Given the description of an element on the screen output the (x, y) to click on. 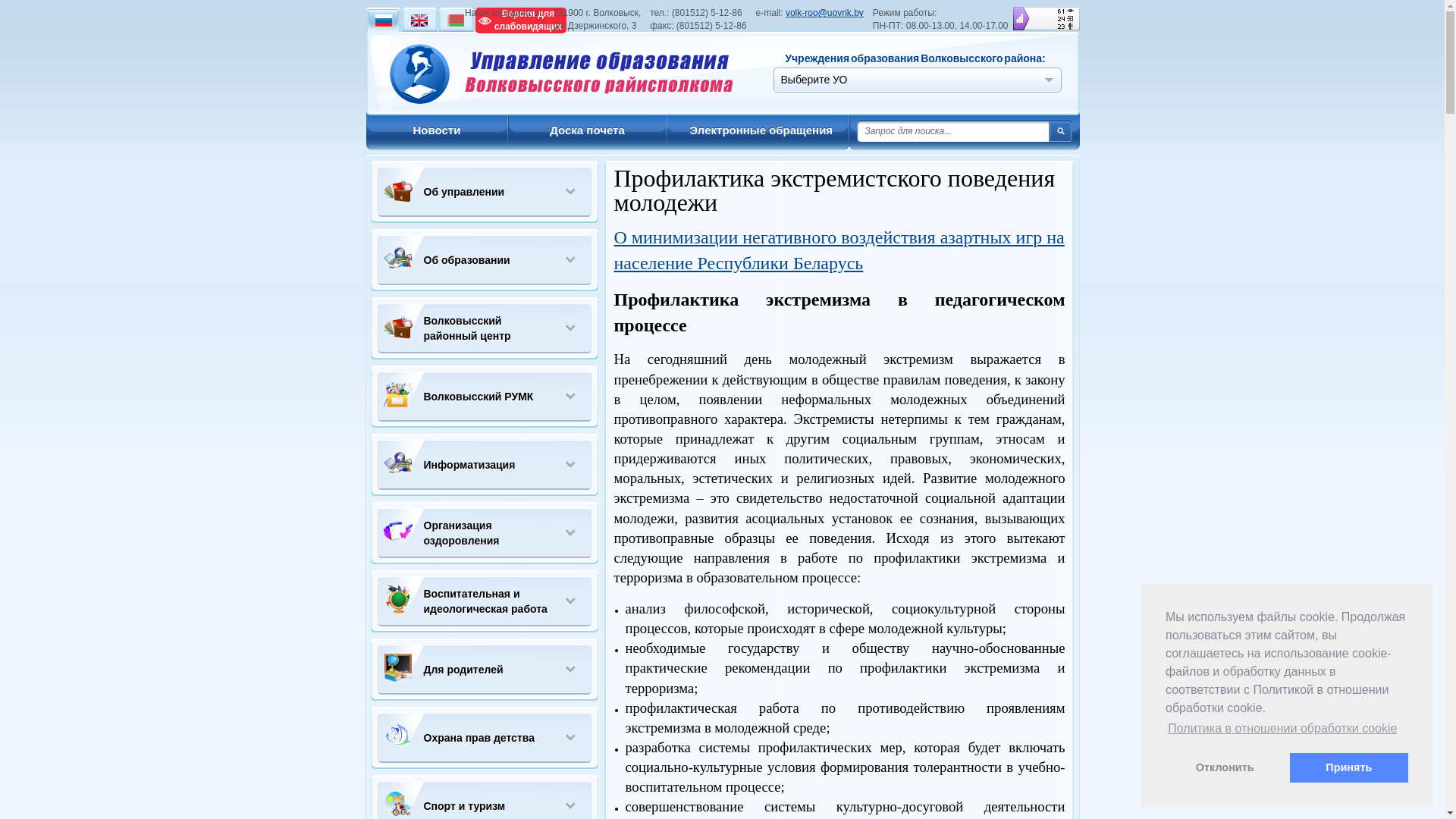
English Element type: hover (418, 20)
volk-roo@uovrik.by Element type: text (824, 12)
